Given the description of an element on the screen output the (x, y) to click on. 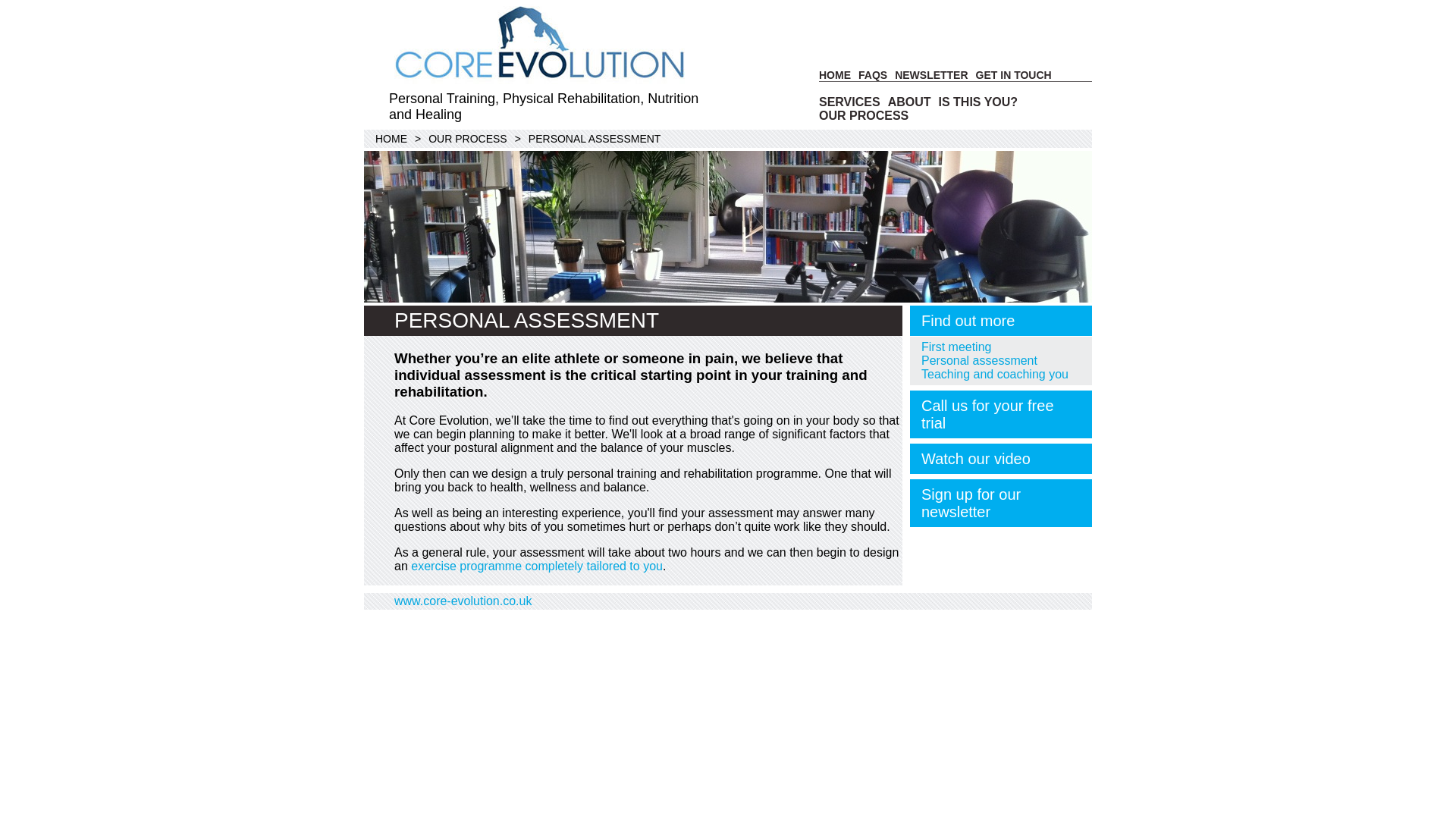
Watch our video (1001, 458)
IS THIS YOU? (978, 101)
First meeting (956, 346)
Personal assessment (978, 359)
NEWSLETTER (931, 74)
GET IN TOUCH (1013, 74)
OUR PROCESS (467, 138)
Sign up for our newsletter (1001, 503)
Call us for your free trial (1001, 414)
www.core-evolution.co.uk (462, 600)
HOME (834, 74)
FAQS (872, 74)
HOME (391, 138)
ABOUT (909, 101)
